Given the description of an element on the screen output the (x, y) to click on. 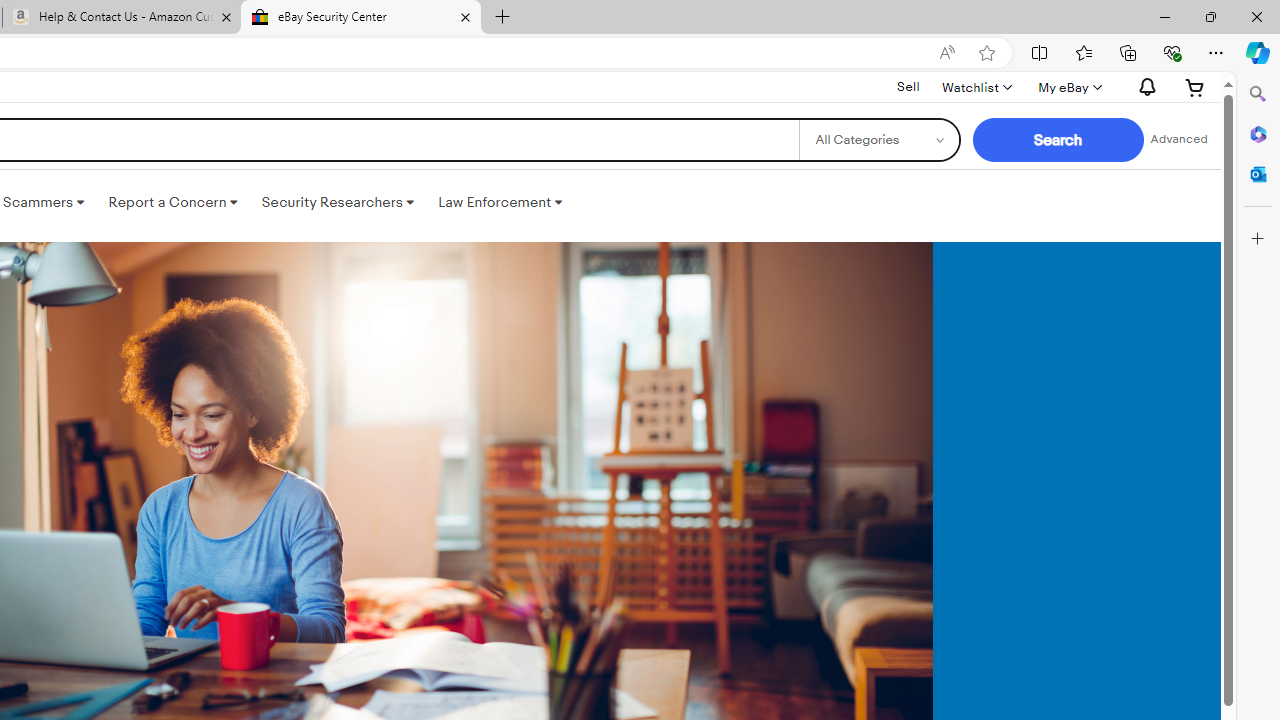
Law Enforcement  (500, 202)
WatchlistExpand Watch List (975, 87)
